Given the description of an element on the screen output the (x, y) to click on. 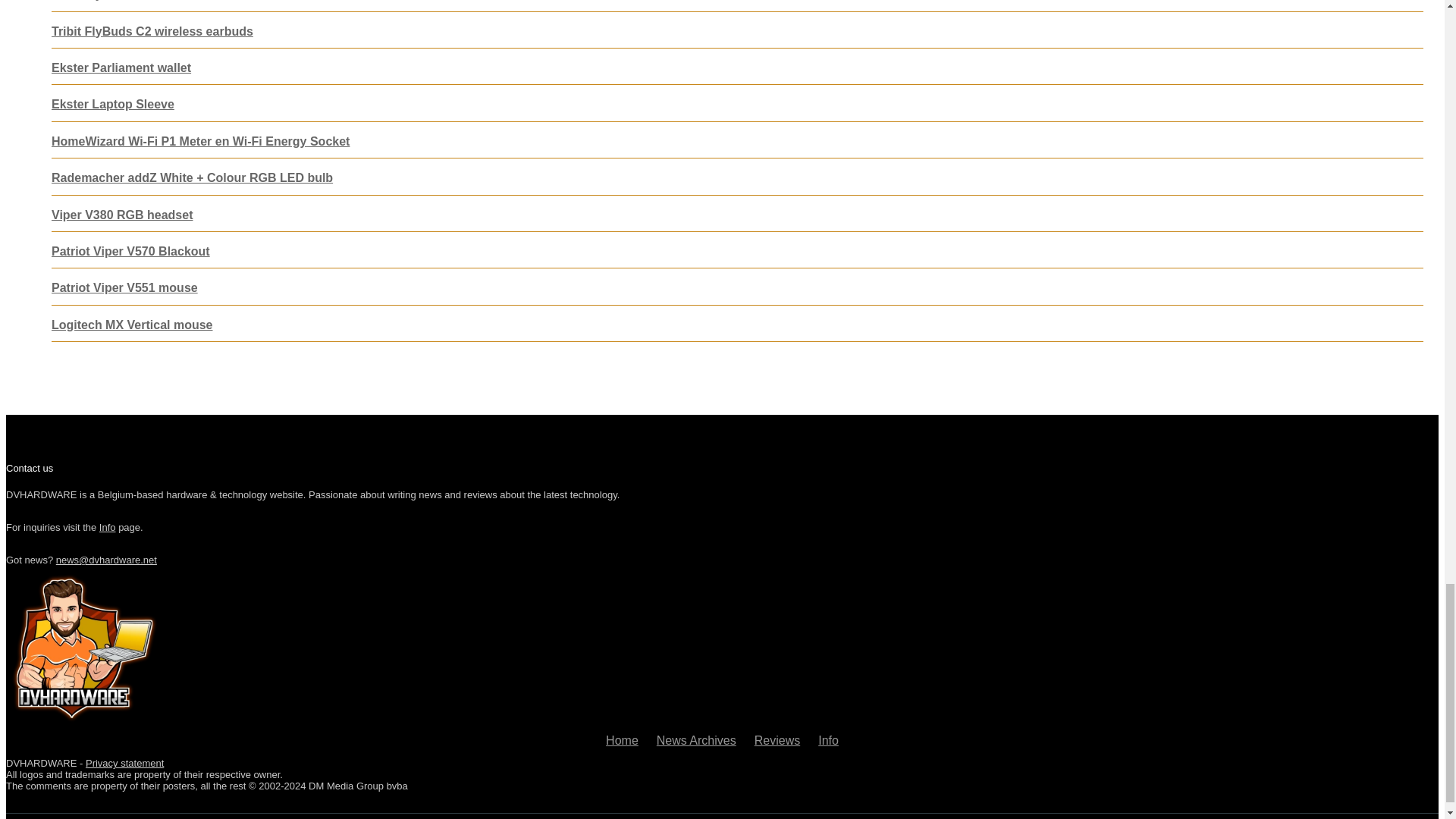
Viper V380 RGB headset (121, 214)
Tribit FlyBuds C2 wireless earbuds (151, 31)
Reviews (776, 739)
Ekster Laptop Sleeve (112, 103)
Info (107, 527)
Logitech MX Vertical mouse (131, 324)
Ekster Parliament wallet (120, 67)
News Archives (696, 739)
Privacy statement (124, 763)
Home (622, 739)
HomeWizard Wi-Fi P1 Meter en Wi-Fi Energy Socket (199, 141)
Patriot Viper V551 mouse (124, 287)
Info (828, 739)
Patriot Viper V570 Blackout (129, 250)
